Given the description of an element on the screen output the (x, y) to click on. 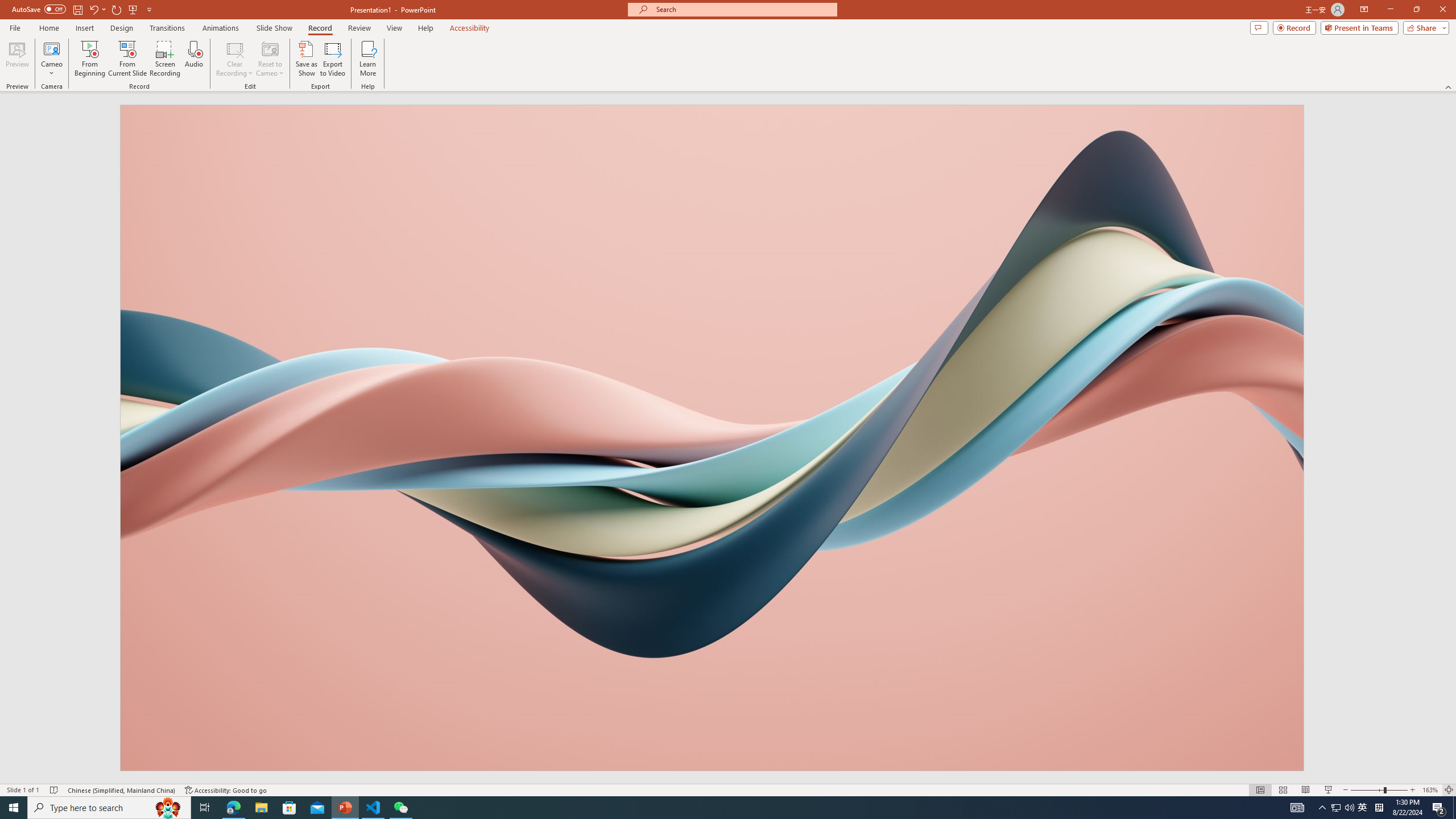
Learn More (368, 58)
Export to Video (332, 58)
Save as Show (306, 58)
From Beginning... (89, 58)
Screen Recording (165, 58)
